Given the description of an element on the screen output the (x, y) to click on. 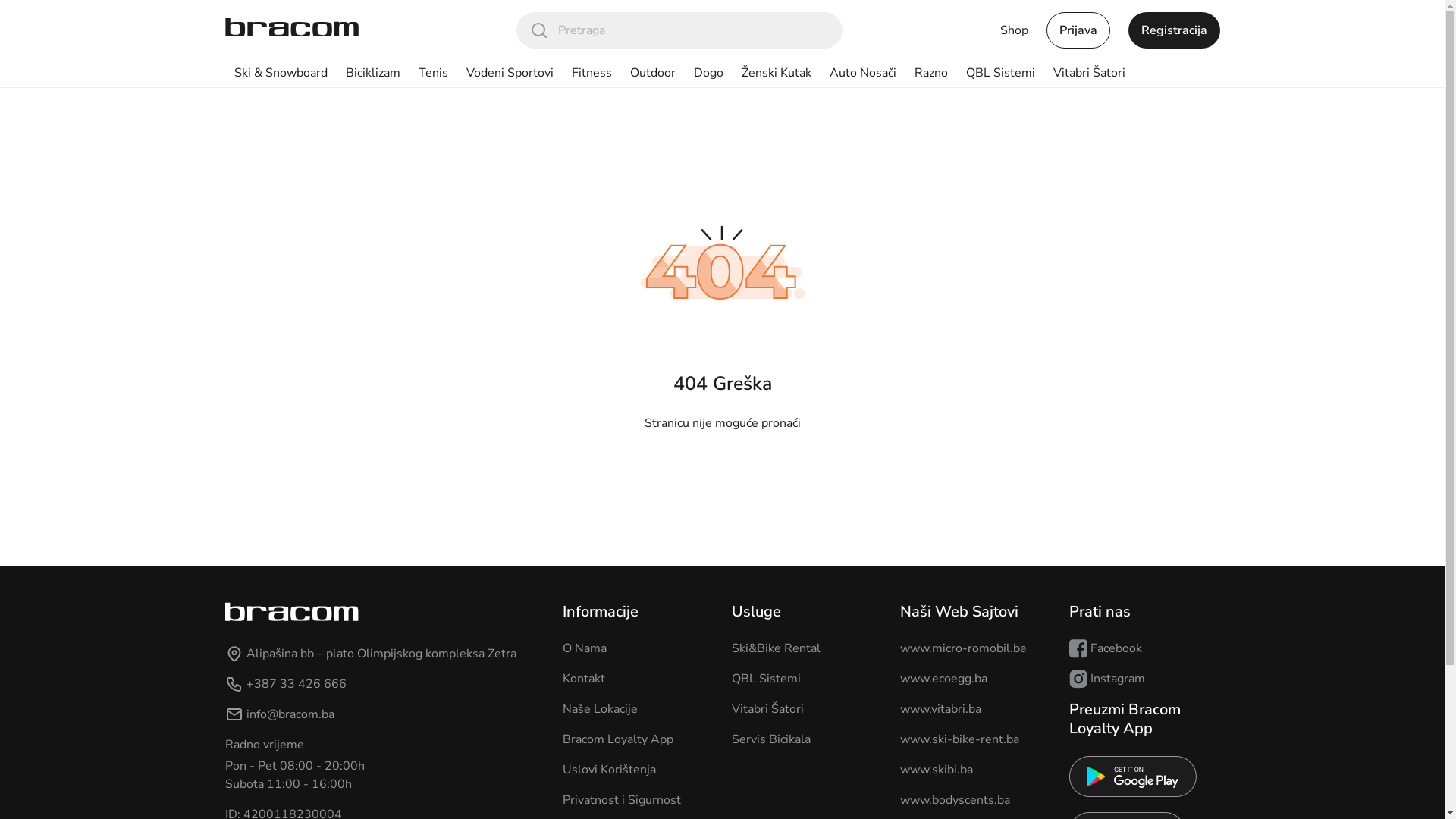
www.micro-romobil.ba Element type: text (963, 648)
www.bodyscents.ba Element type: text (955, 799)
QBL Sistemi Element type: text (1000, 72)
Prijava Element type: text (1078, 30)
Instagram Element type: text (1107, 678)
Shop Element type: text (1013, 29)
Registracija Element type: text (1174, 30)
Bracom Loyalty App Element type: text (617, 739)
www.skibi.ba Element type: text (936, 769)
Privatnost i Sigurnost Element type: text (621, 799)
Ski&Bike Rental Element type: text (775, 648)
www.ski-bike-rent.ba Element type: text (959, 739)
Facebook Element type: text (1105, 648)
www.vitabri.ba Element type: text (940, 708)
O Nama Element type: text (584, 648)
Servis Bicikala Element type: text (770, 739)
QBL Sistemi Element type: text (765, 678)
Kontakt Element type: text (583, 678)
www.ecoegg.ba Element type: text (943, 678)
